Given the description of an element on the screen output the (x, y) to click on. 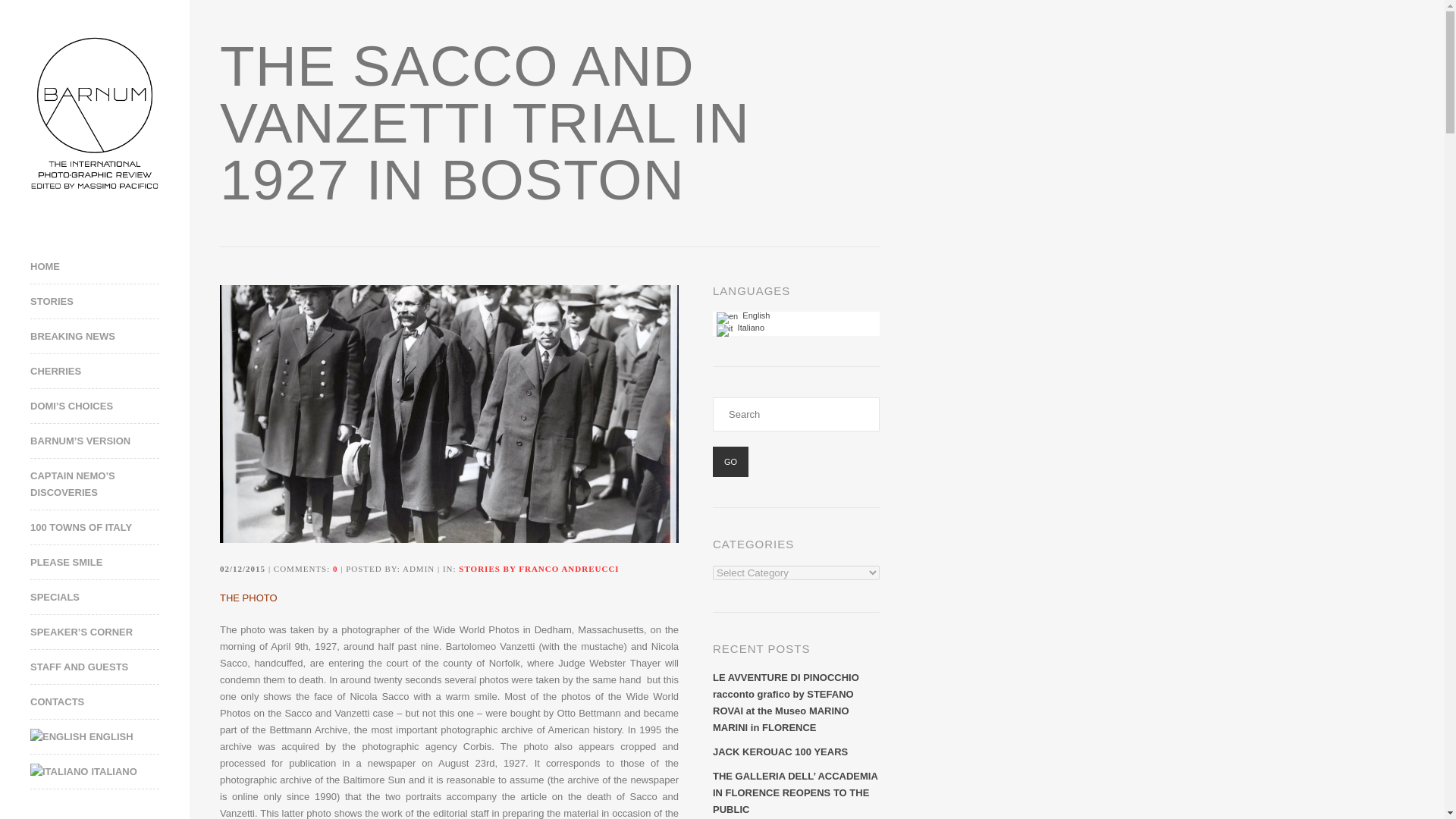
HOME (109, 266)
BREAKING NEWS (109, 336)
SPECIALS (109, 597)
CHERRIES (109, 371)
PLEASE SMILE (109, 562)
Italiano (724, 330)
ITALIANO (109, 771)
Italiano (58, 771)
STAFF AND GUESTS (109, 667)
